Given the description of an element on the screen output the (x, y) to click on. 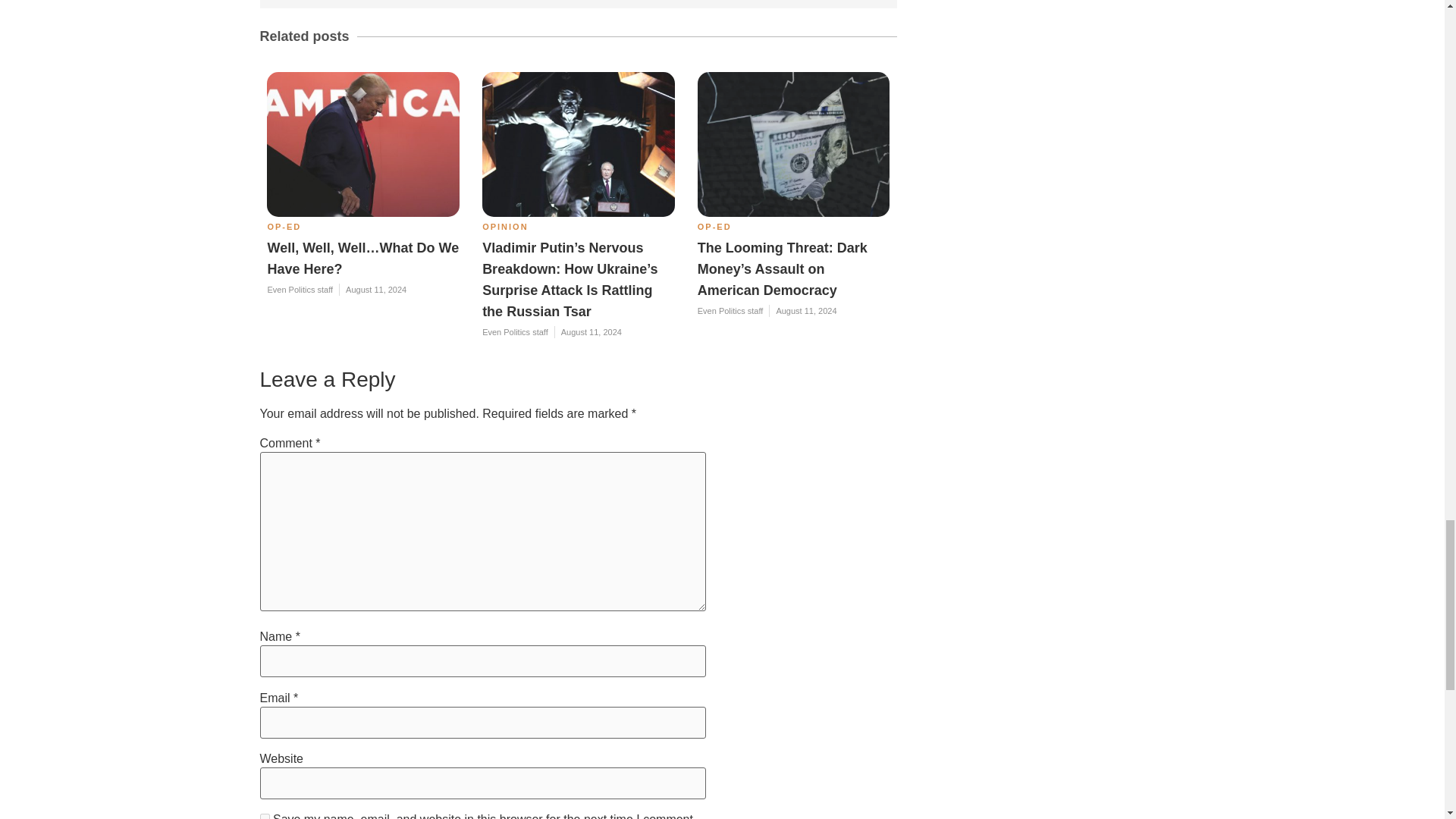
yes (264, 816)
APTOPIX Election 2024 RNC (363, 144)
Ukraine Kursk putin (578, 144)
